Given the description of an element on the screen output the (x, y) to click on. 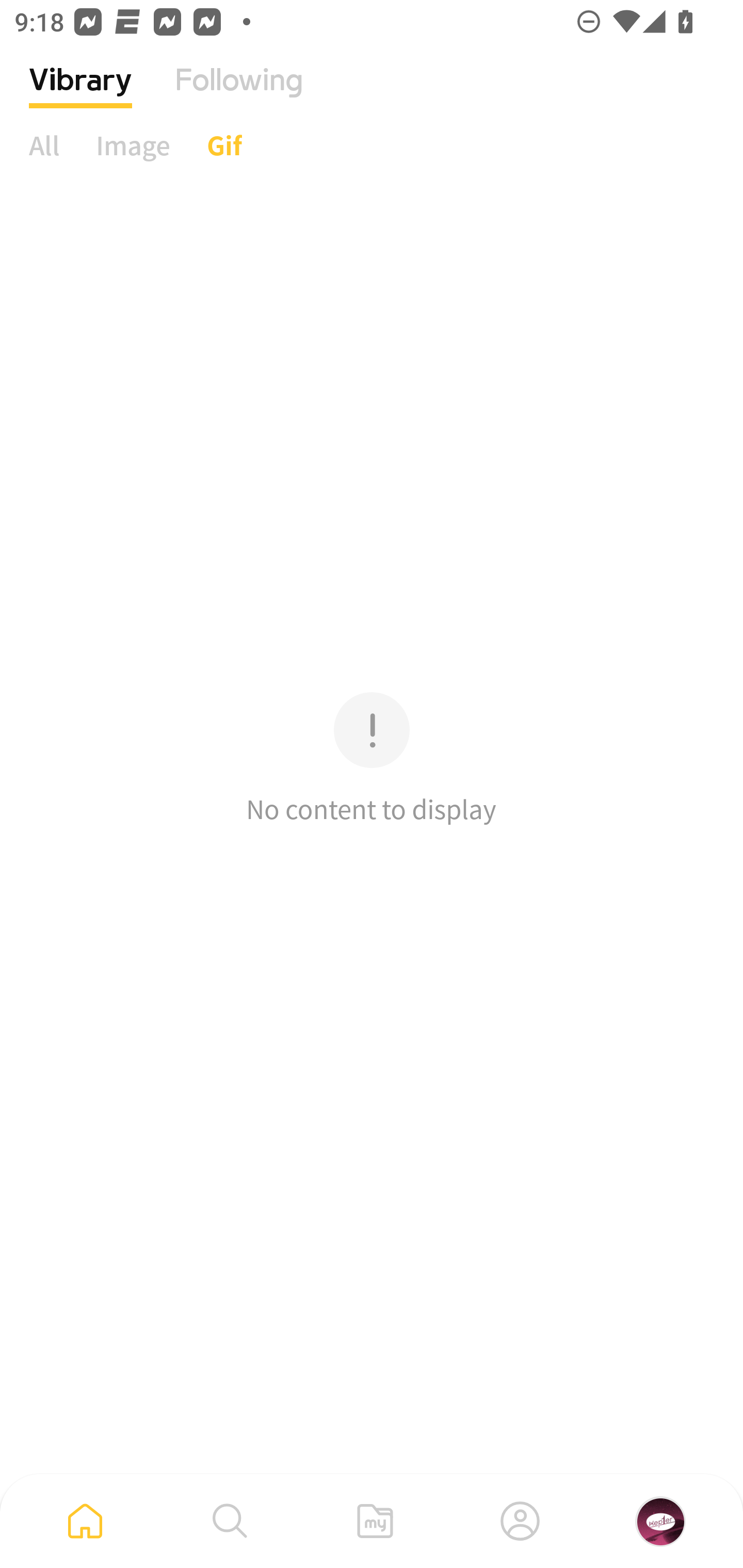
Vibrary (80, 95)
Following (239, 95)
All (44, 145)
Image (132, 145)
Gif (224, 145)
